Given the description of an element on the screen output the (x, y) to click on. 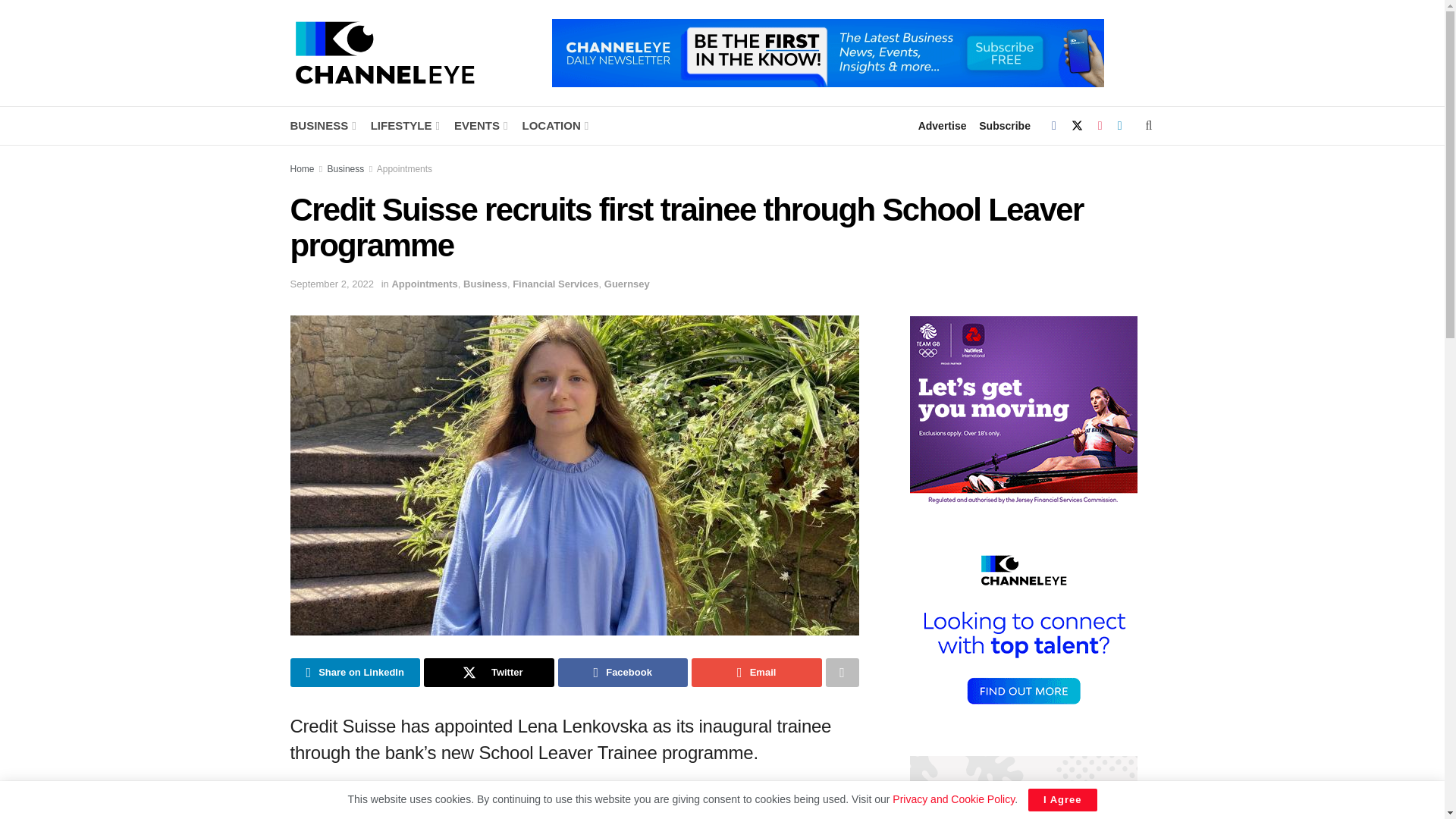
LOCATION (553, 125)
LIFESTYLE (404, 125)
EVENTS (479, 125)
BUSINESS (321, 125)
